Given the description of an element on the screen output the (x, y) to click on. 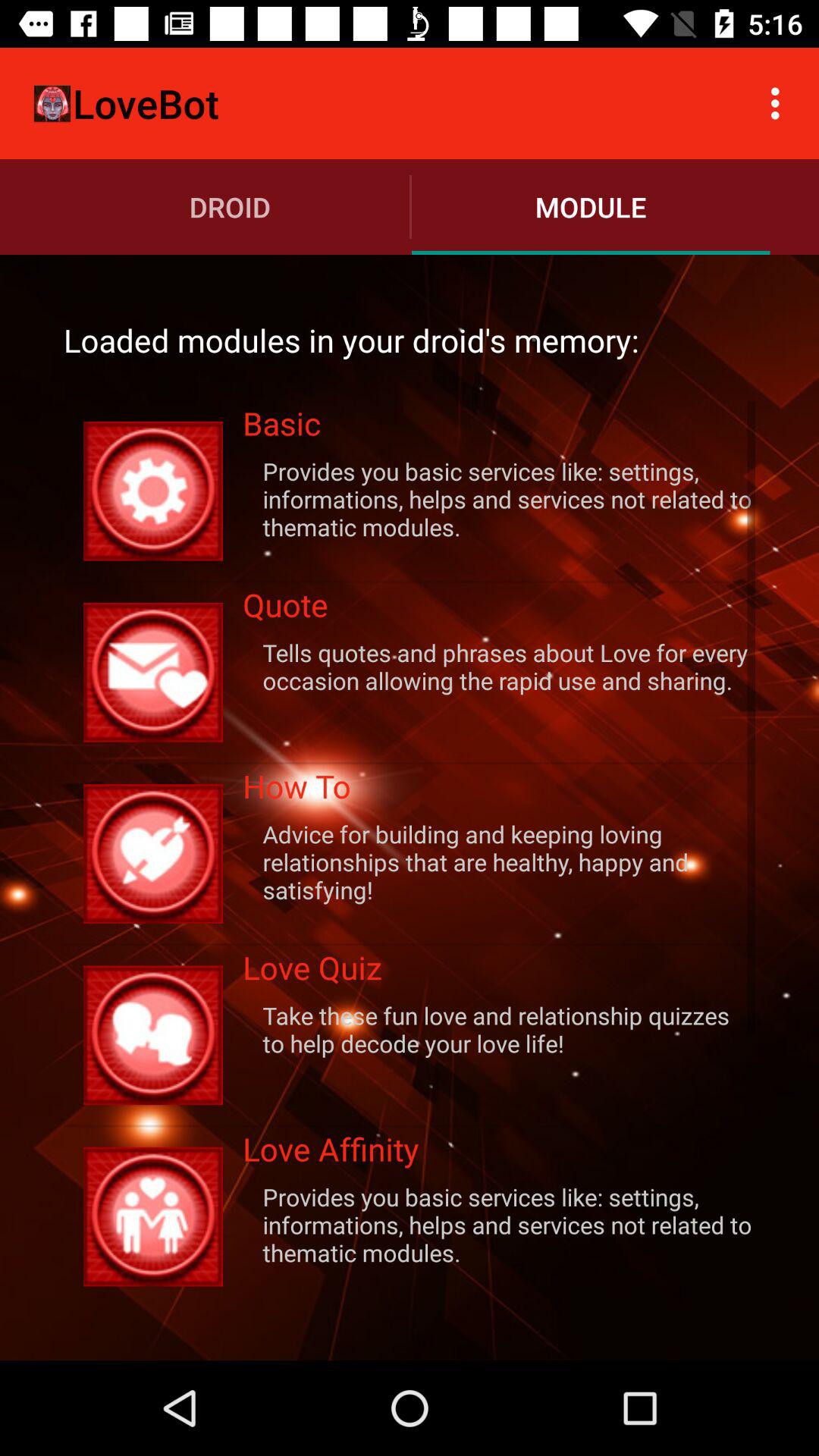
launch the love quiz (498, 972)
